Given the description of an element on the screen output the (x, y) to click on. 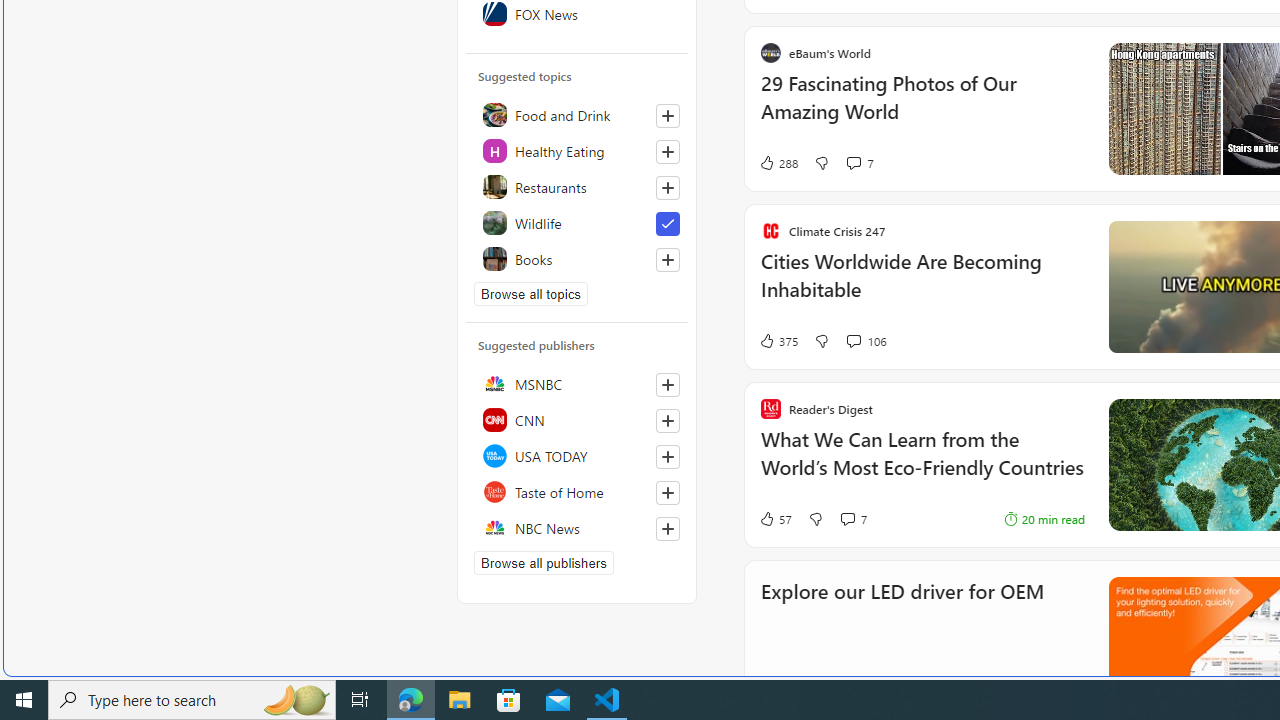
NBC News (577, 528)
